Given the description of an element on the screen output the (x, y) to click on. 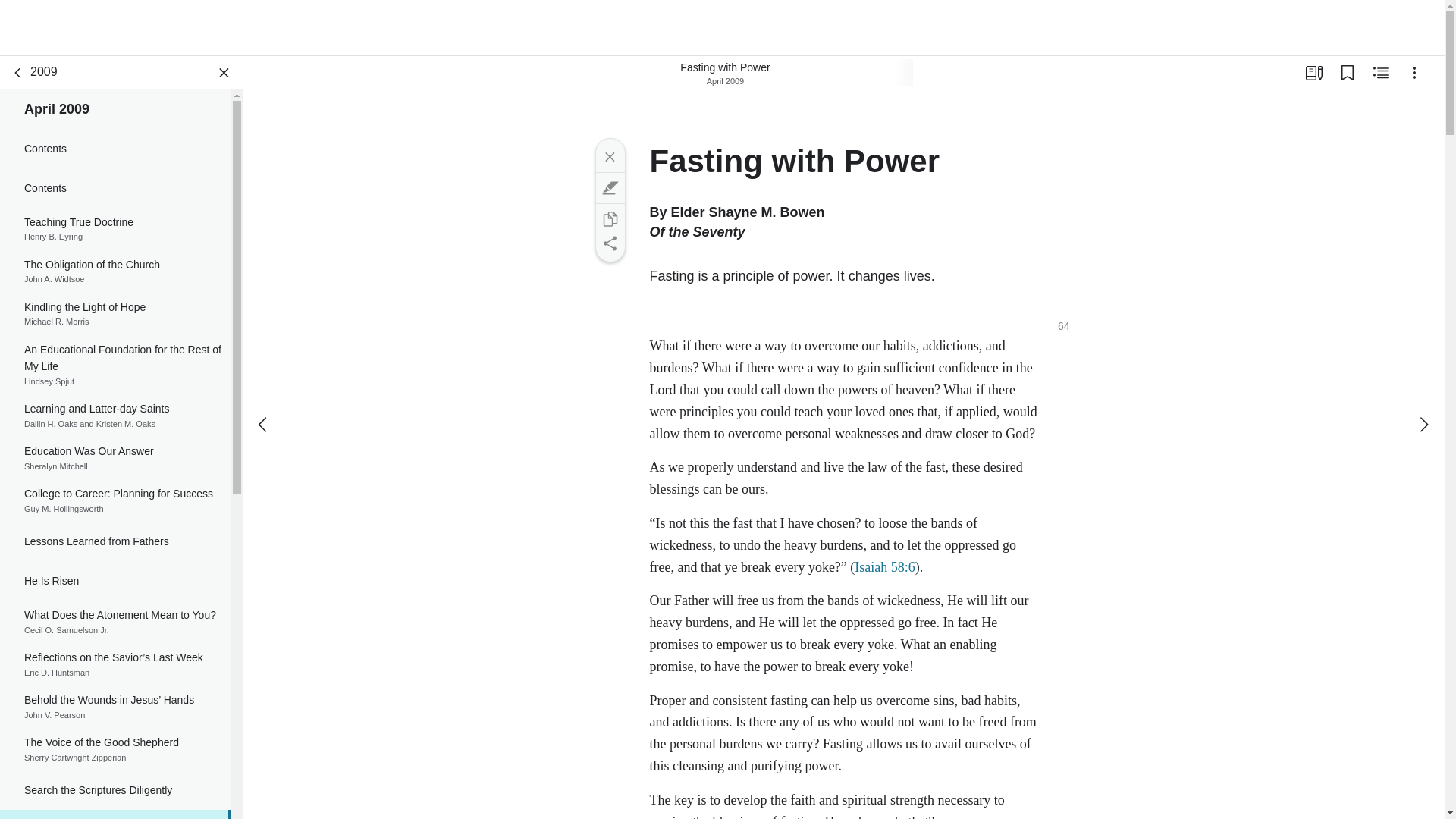
He Is Risen (115, 580)
Table of Contents (115, 229)
Contents (17, 72)
Share (115, 271)
Options (115, 148)
